Given the description of an element on the screen output the (x, y) to click on. 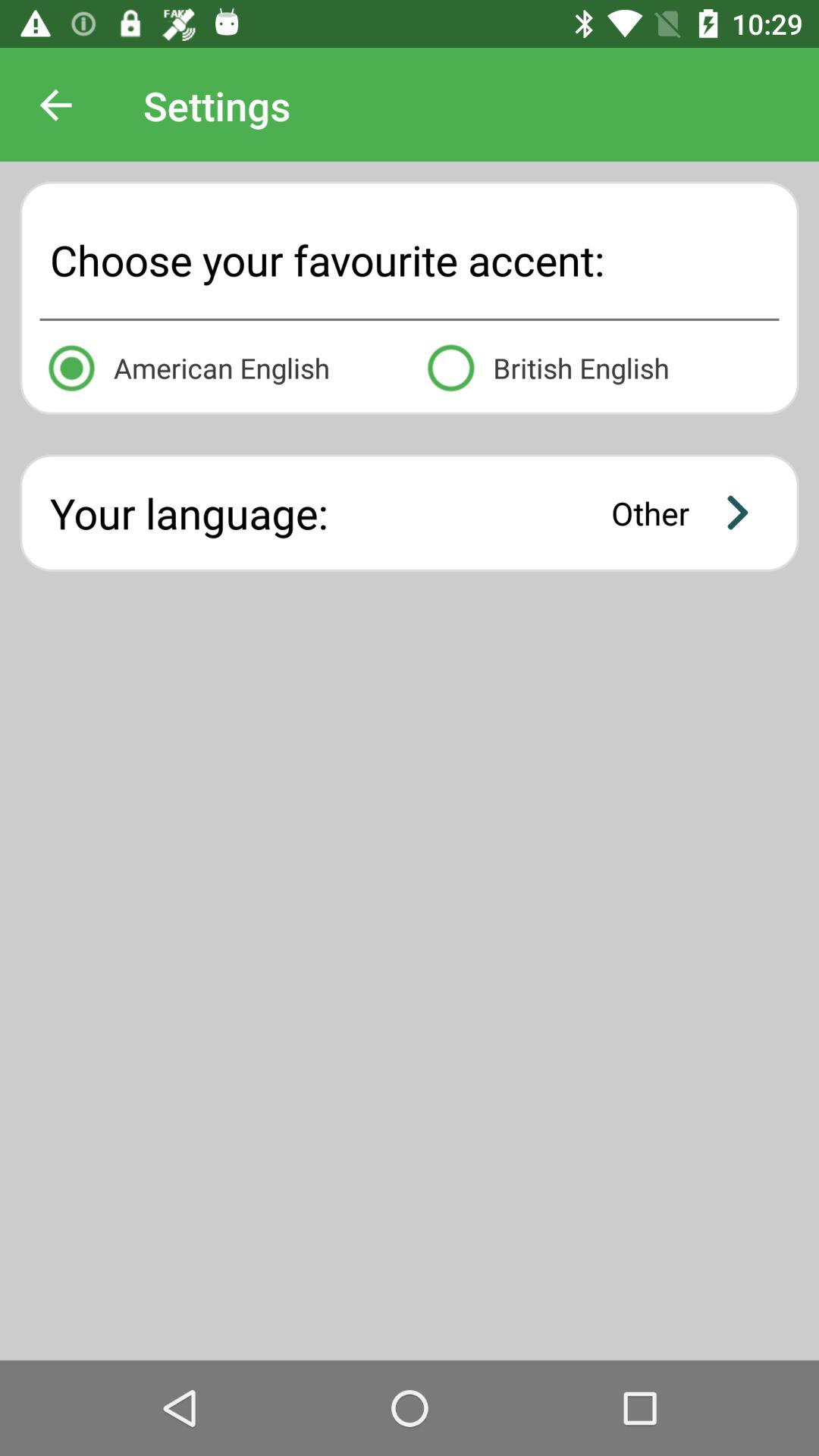
press the british english at the top right corner (599, 365)
